Given the description of an element on the screen output the (x, y) to click on. 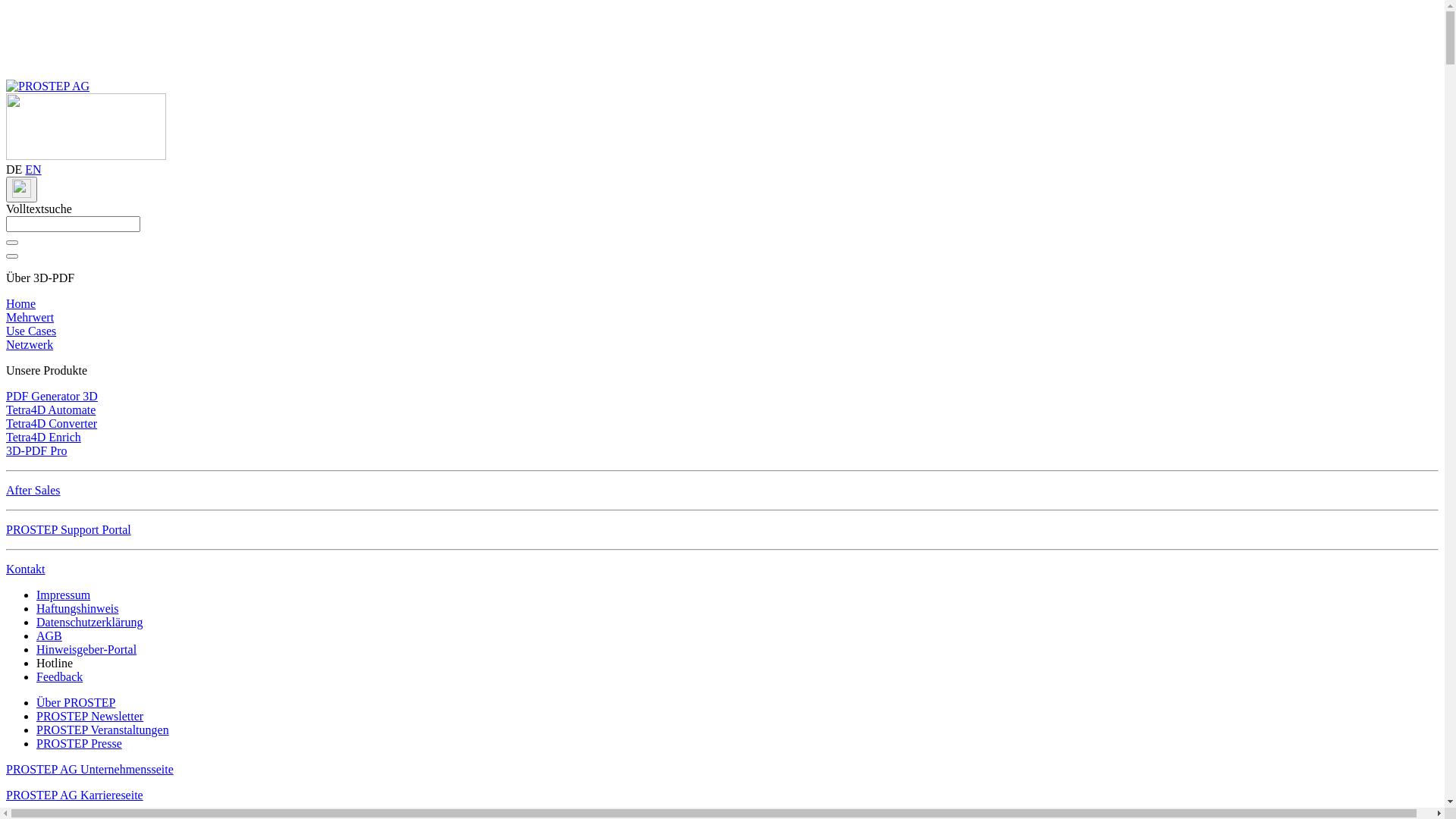
Hinweisgeber-Portal Element type: text (86, 649)
Use Cases Element type: text (31, 330)
Netzwerk Element type: text (29, 344)
After Sales Element type: text (33, 489)
Haftungshinweis Element type: text (77, 608)
AGB Element type: text (49, 635)
3D-PDF Pro Element type: text (36, 450)
PROSTEP AG Karriereseite Element type: text (74, 794)
PROSTEP Veranstaltungen Element type: text (102, 729)
Home Element type: text (20, 303)
PROSTEP Newsletter Element type: text (89, 715)
Kontakt Element type: text (25, 568)
Tetra4D Converter Element type: text (51, 423)
PDF Generator 3D Element type: text (51, 395)
Hotline Element type: text (54, 662)
Suchen Element type: text (12, 242)
Feedback Element type: text (59, 676)
Tetra4D Automate Element type: text (50, 409)
Impressum Element type: text (63, 594)
Tetra4D Enrich Element type: text (43, 436)
PROSTEP Presse Element type: text (79, 743)
PROSTEP Support Portal Element type: text (68, 529)
PROSTEP AG Unternehmensseite Element type: text (89, 768)
EN Element type: text (32, 169)
Mehrwert Element type: text (29, 316)
